Given the description of an element on the screen output the (x, y) to click on. 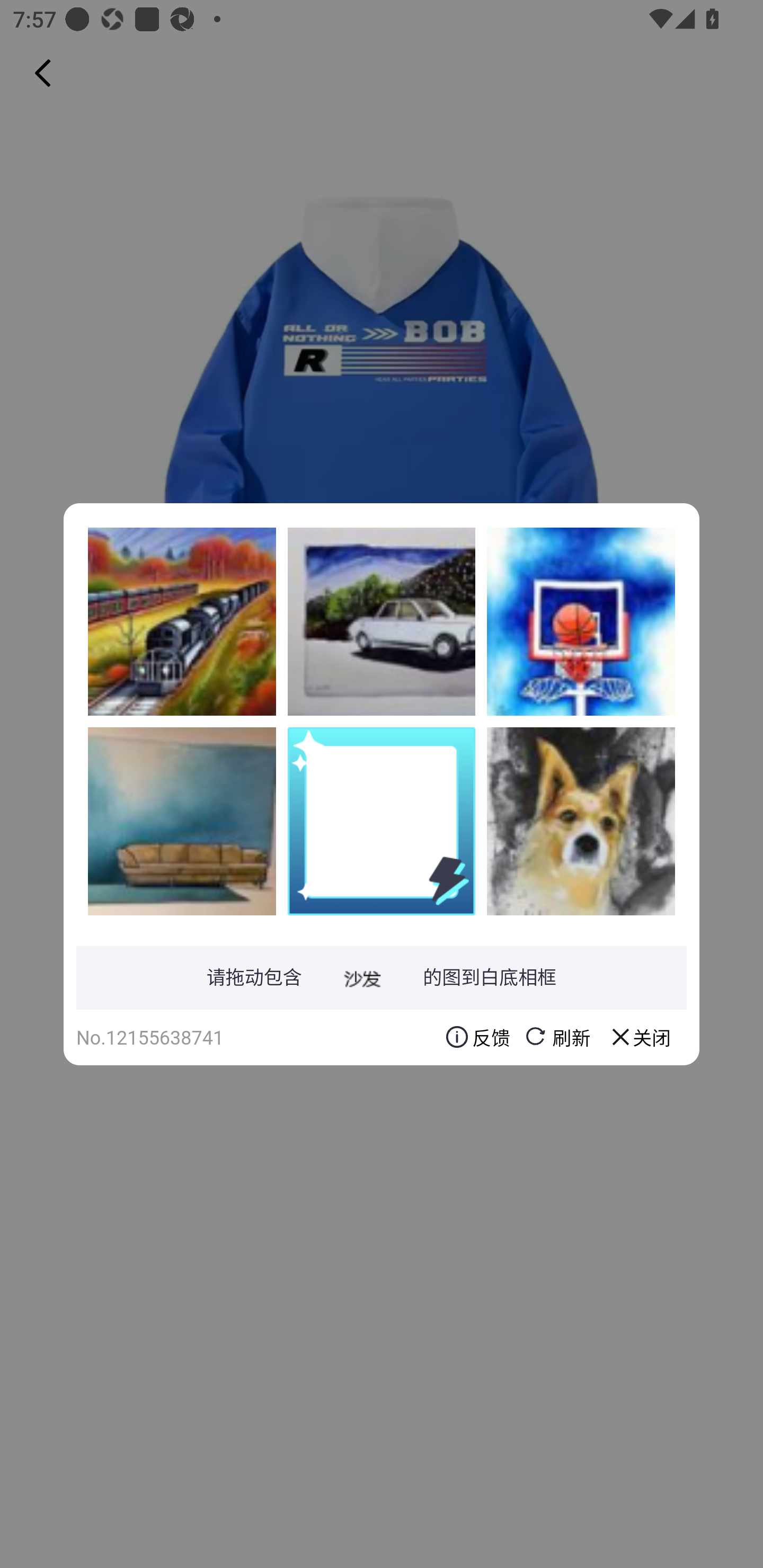
DeSf7ahvbQ7NzDTUcEqYZF9 (181, 820)
b0TbXkT2U3 (580, 820)
